Given the description of an element on the screen output the (x, y) to click on. 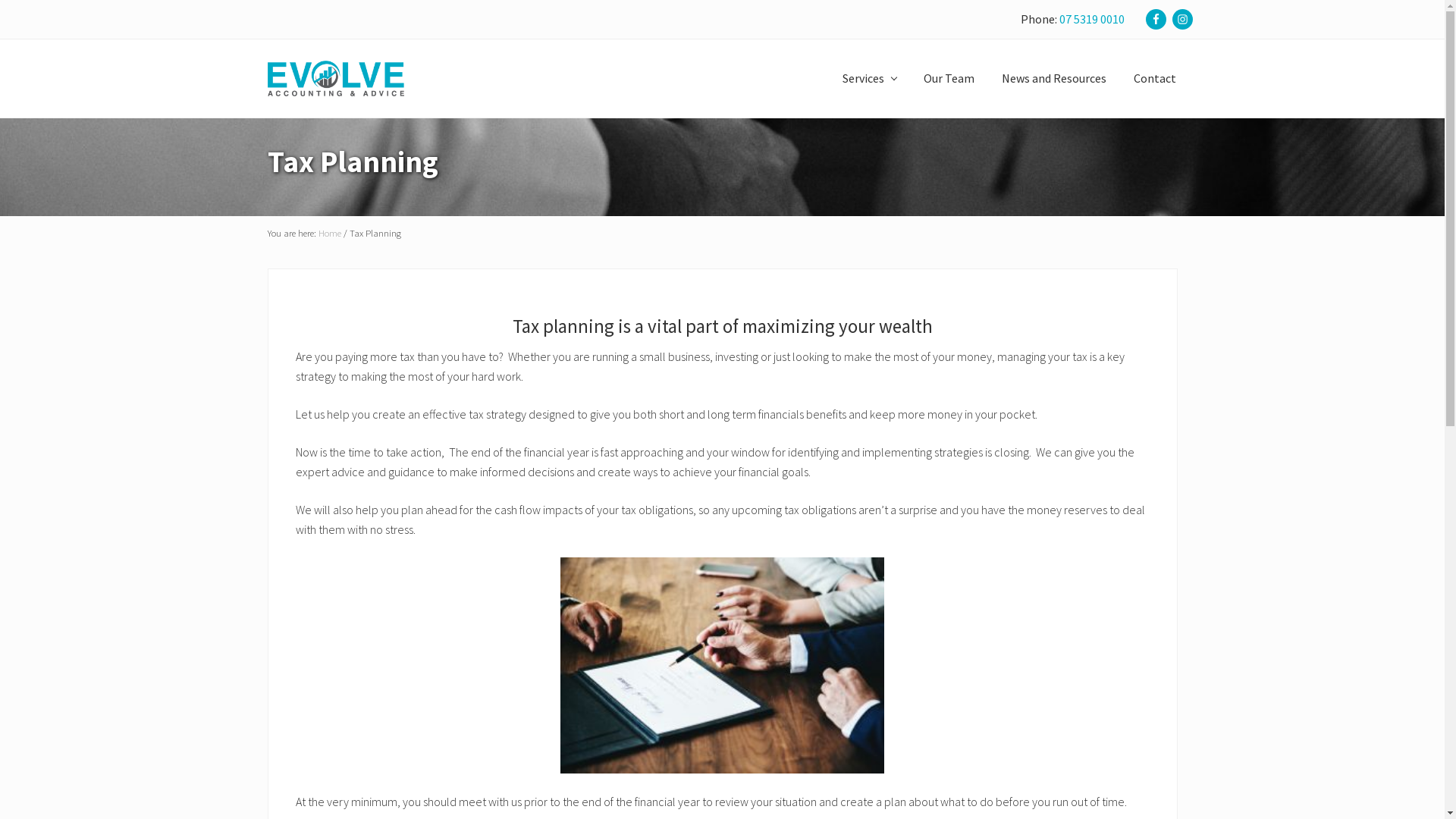
Skip to right header navigation Element type: text (0, 0)
Our Team Element type: text (948, 78)
Services Element type: text (868, 78)
07 5319 0010 Element type: text (1090, 18)
Contact Element type: text (1153, 78)
Facebook Element type: text (1155, 19)
News and Resources Element type: text (1052, 78)
Instagram Element type: text (1182, 19)
Home Element type: text (329, 232)
